Given the description of an element on the screen output the (x, y) to click on. 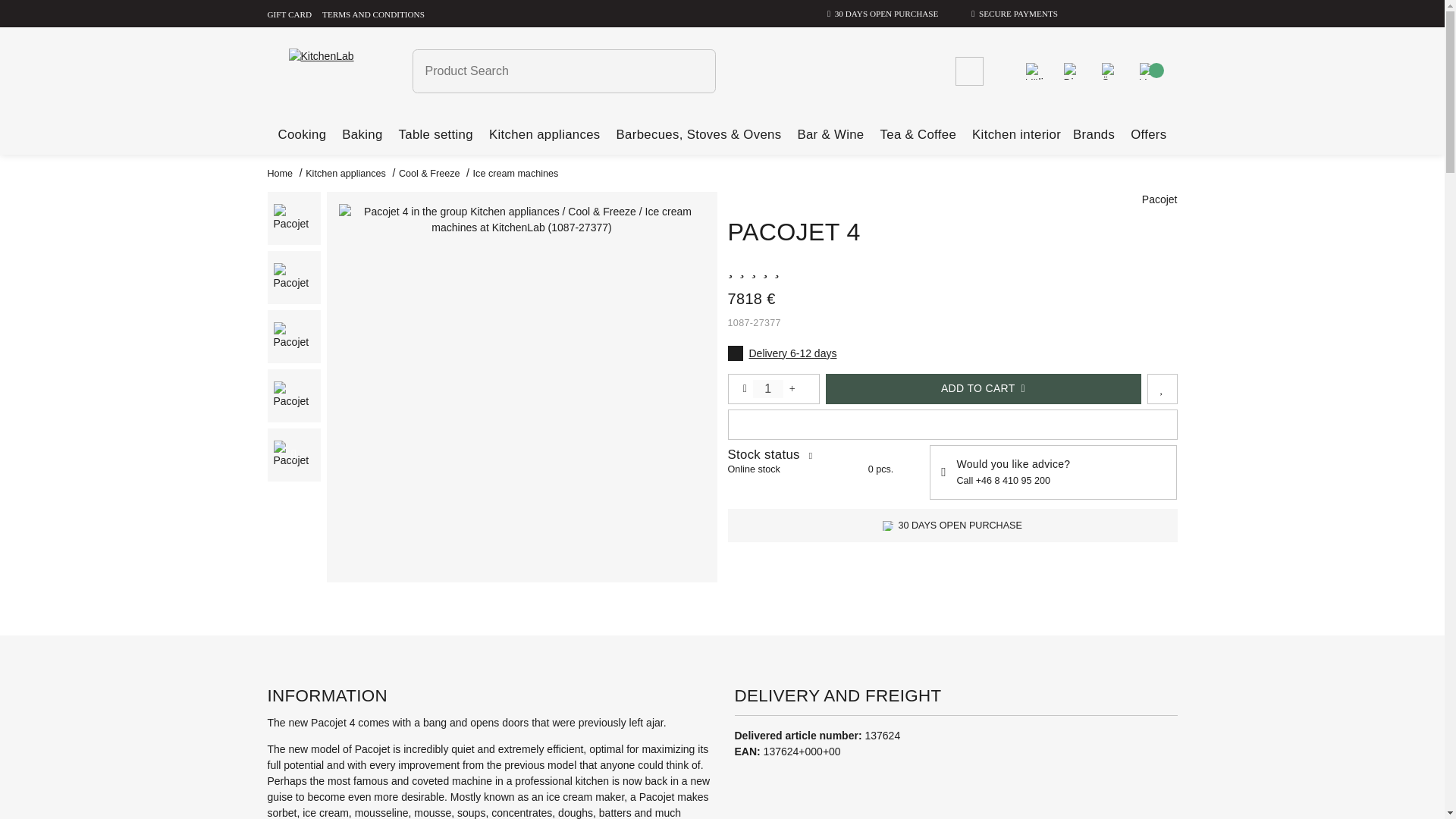
Cooking (302, 134)
Brands (1094, 134)
Varukorg (1147, 70)
GIFT CARD (288, 13)
Cooking (302, 134)
Din sida (1071, 70)
TERMS AND CONDITIONS (373, 13)
1 (767, 389)
